Given the description of an element on the screen output the (x, y) to click on. 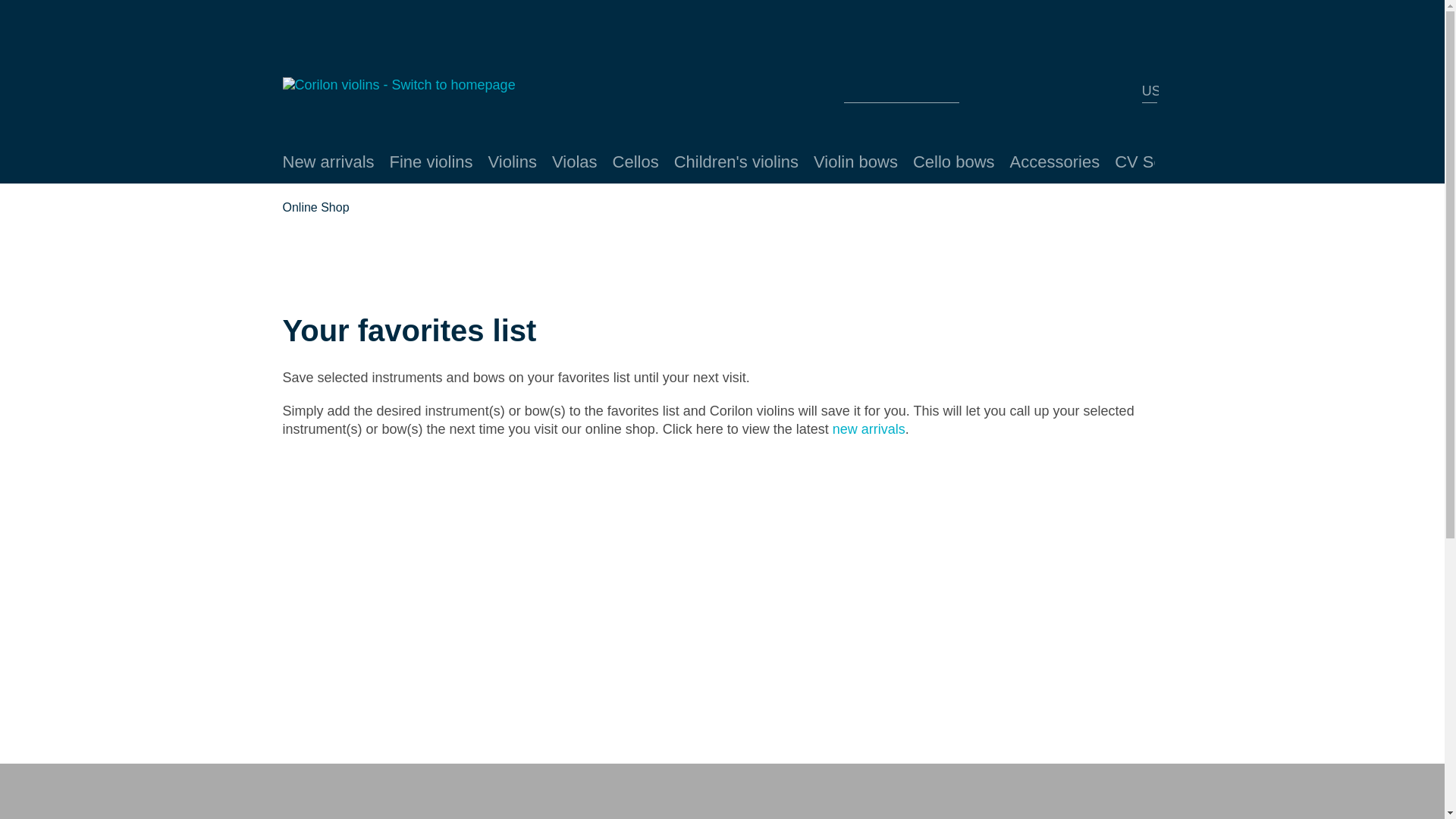
Online Shop (315, 208)
Wish list (1017, 93)
Accessories (1055, 161)
Violas (574, 161)
Icon (1102, 93)
Cello bows (954, 161)
Fine violins (430, 161)
Icon (1017, 93)
Children's violins (736, 161)
